Given the description of an element on the screen output the (x, y) to click on. 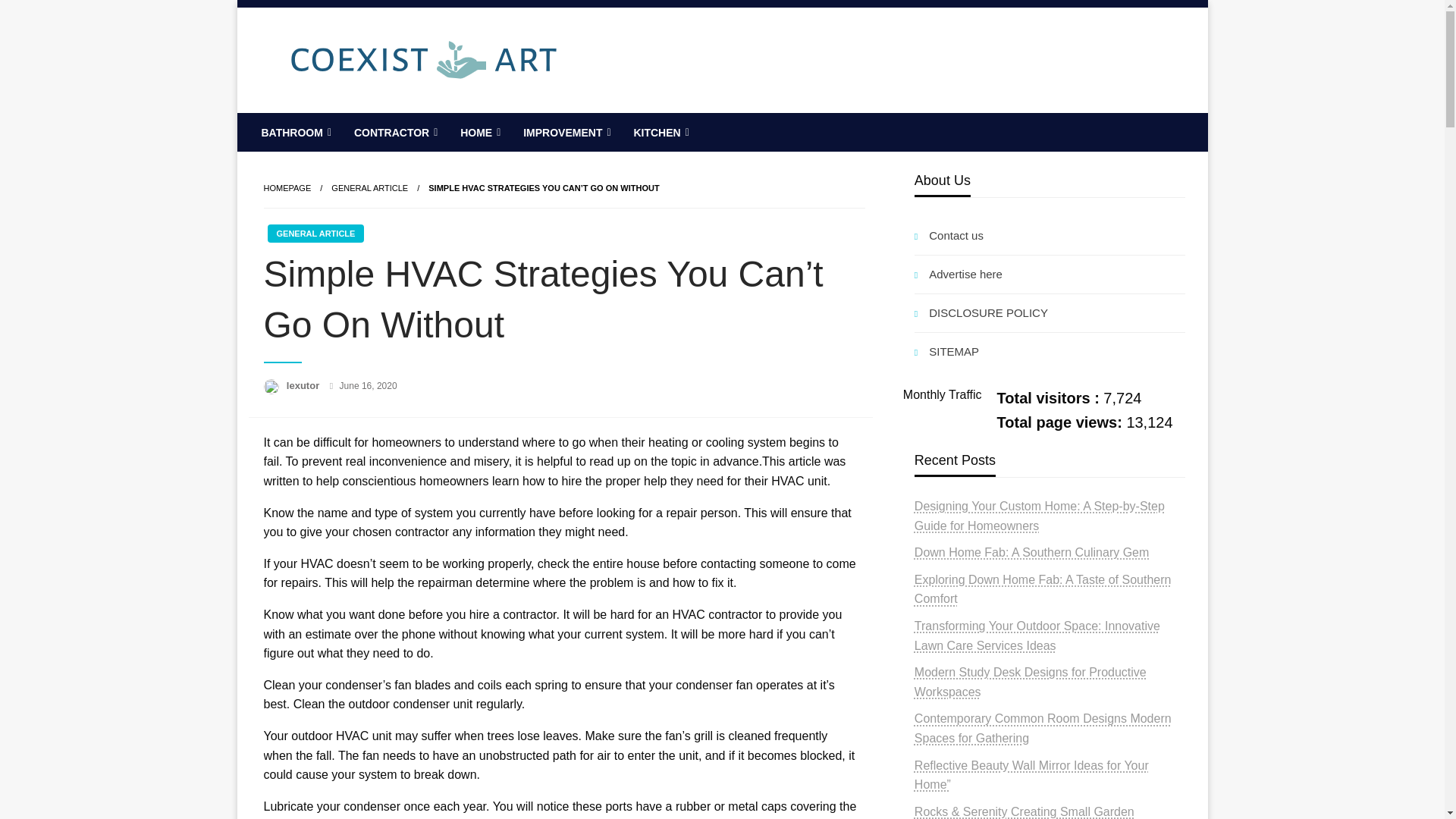
June 16, 2020 (368, 385)
IMPROVEMENT (565, 132)
GENERAL ARTICLE (315, 233)
BATHROOM (294, 132)
KITCHEN (659, 132)
coexist art (332, 124)
Homepage (287, 187)
GENERAL ARTICLE (369, 187)
CONTRACTOR (393, 132)
HOMEPAGE (287, 187)
lexutor (303, 385)
lexutor (303, 385)
HOME (478, 132)
General Article (369, 187)
